Given the description of an element on the screen output the (x, y) to click on. 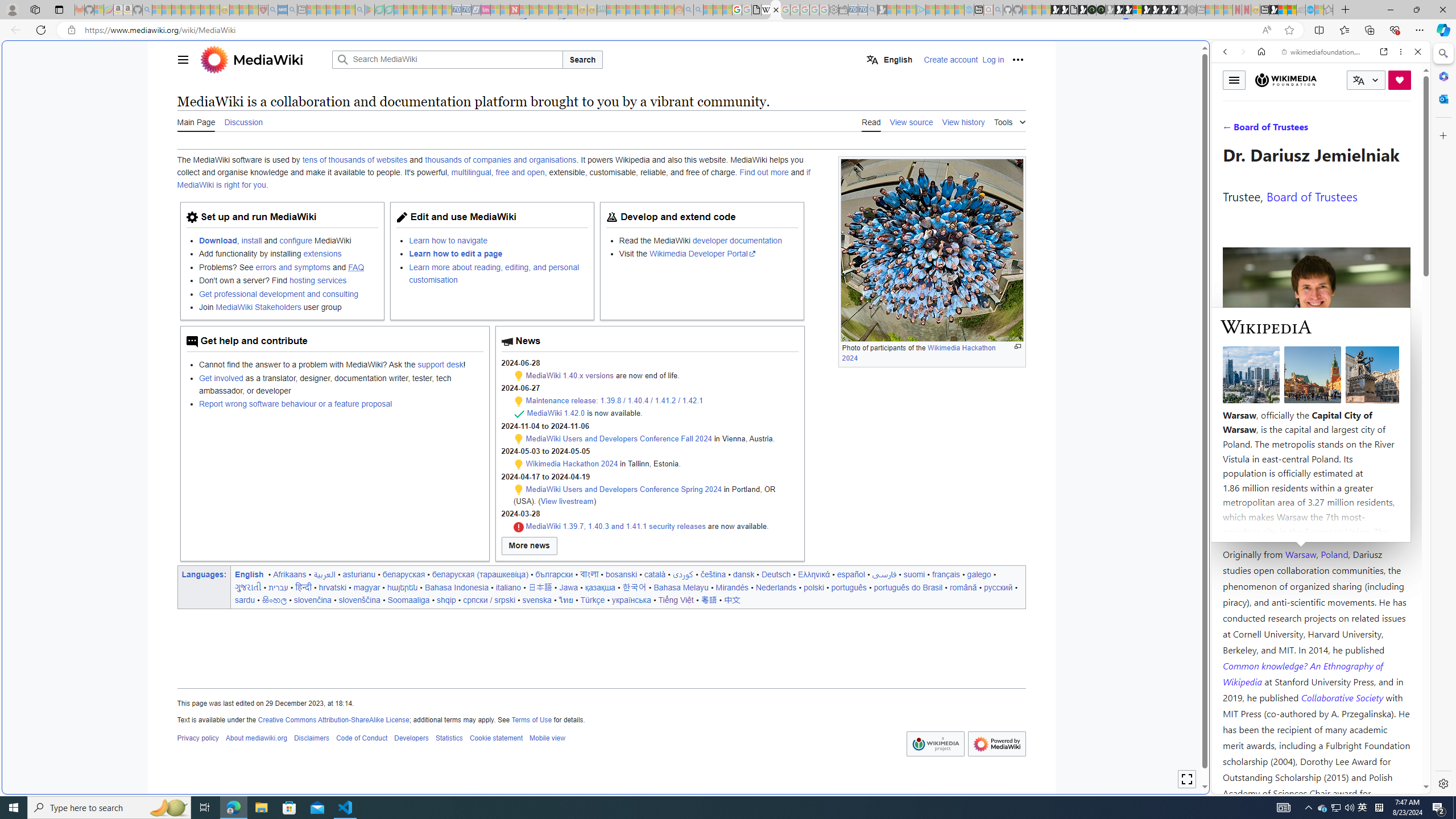
Code of Conduct (360, 738)
sardu (244, 599)
